Given the description of an element on the screen output the (x, y) to click on. 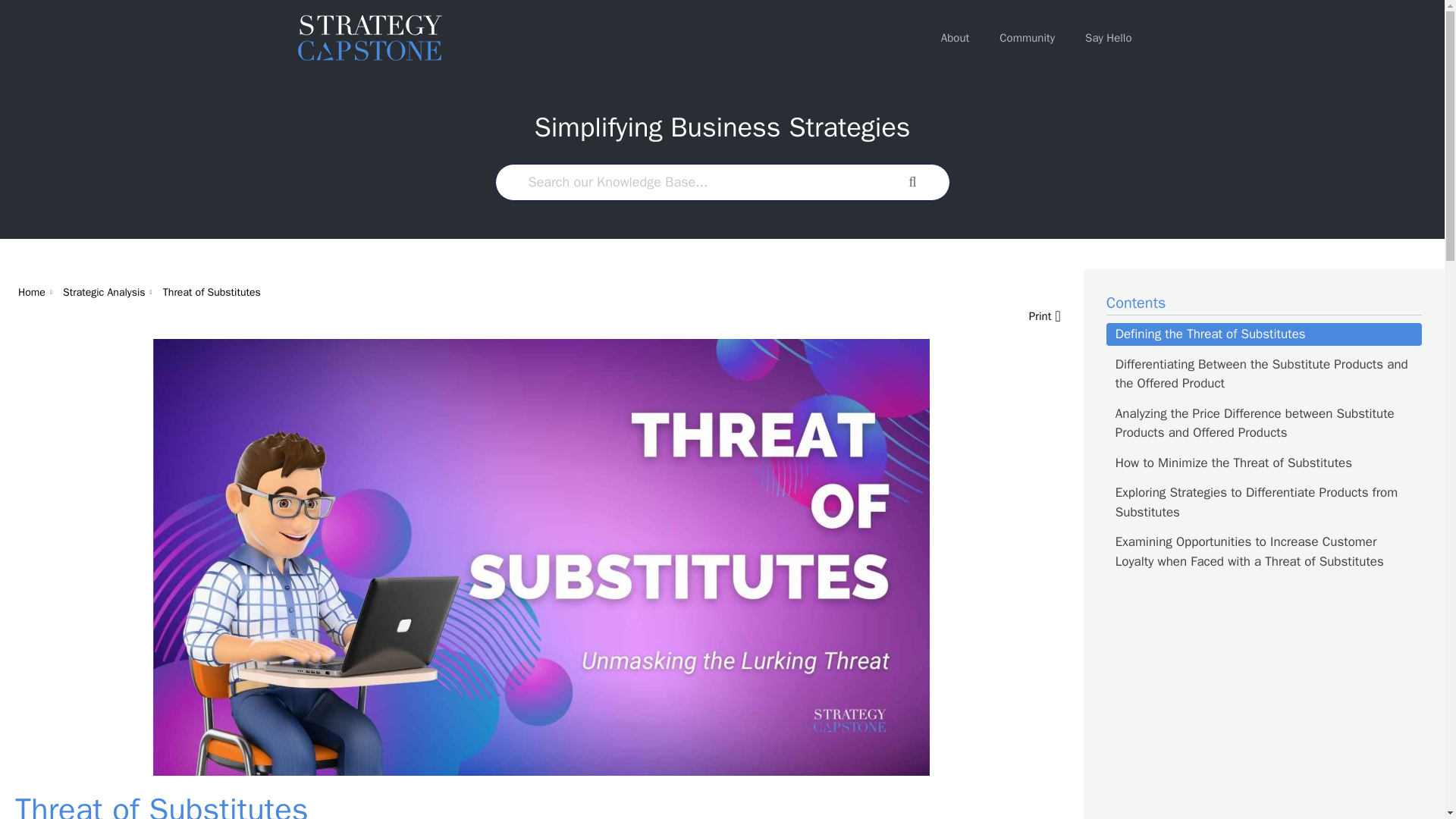
Defining the Threat of Substitutes (1264, 333)
Community (1027, 37)
How to Minimize the Threat of Substitutes (1264, 463)
Strategic Analysis (103, 291)
Home (31, 291)
About (955, 37)
Say Hello (1108, 37)
